Given the description of an element on the screen output the (x, y) to click on. 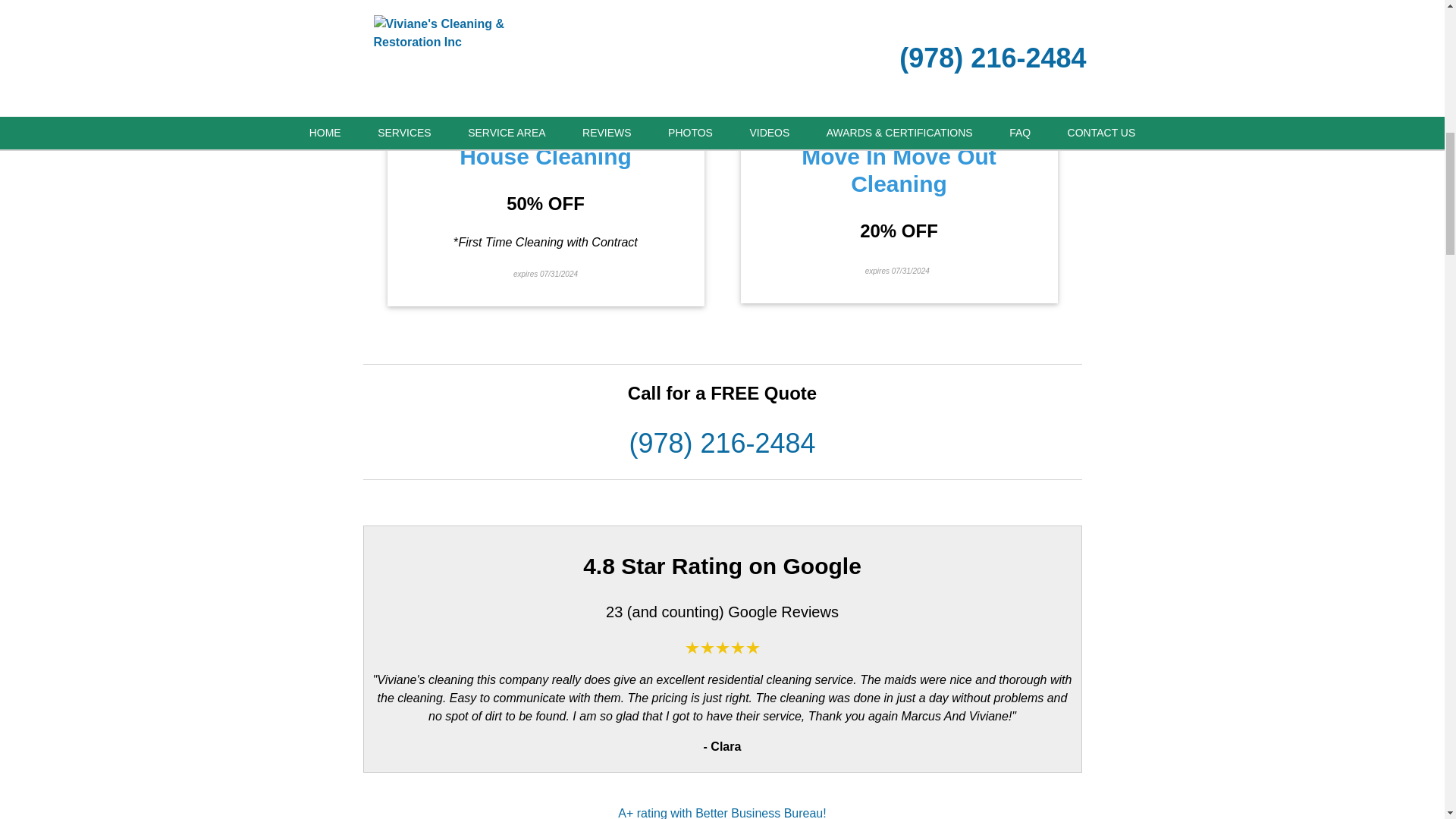
cleaning (881, 43)
maid service in Lynn (960, 25)
office cleaning in Peabody (814, 25)
house cleaning in Wakefield (661, 25)
